Given the description of an element on the screen output the (x, y) to click on. 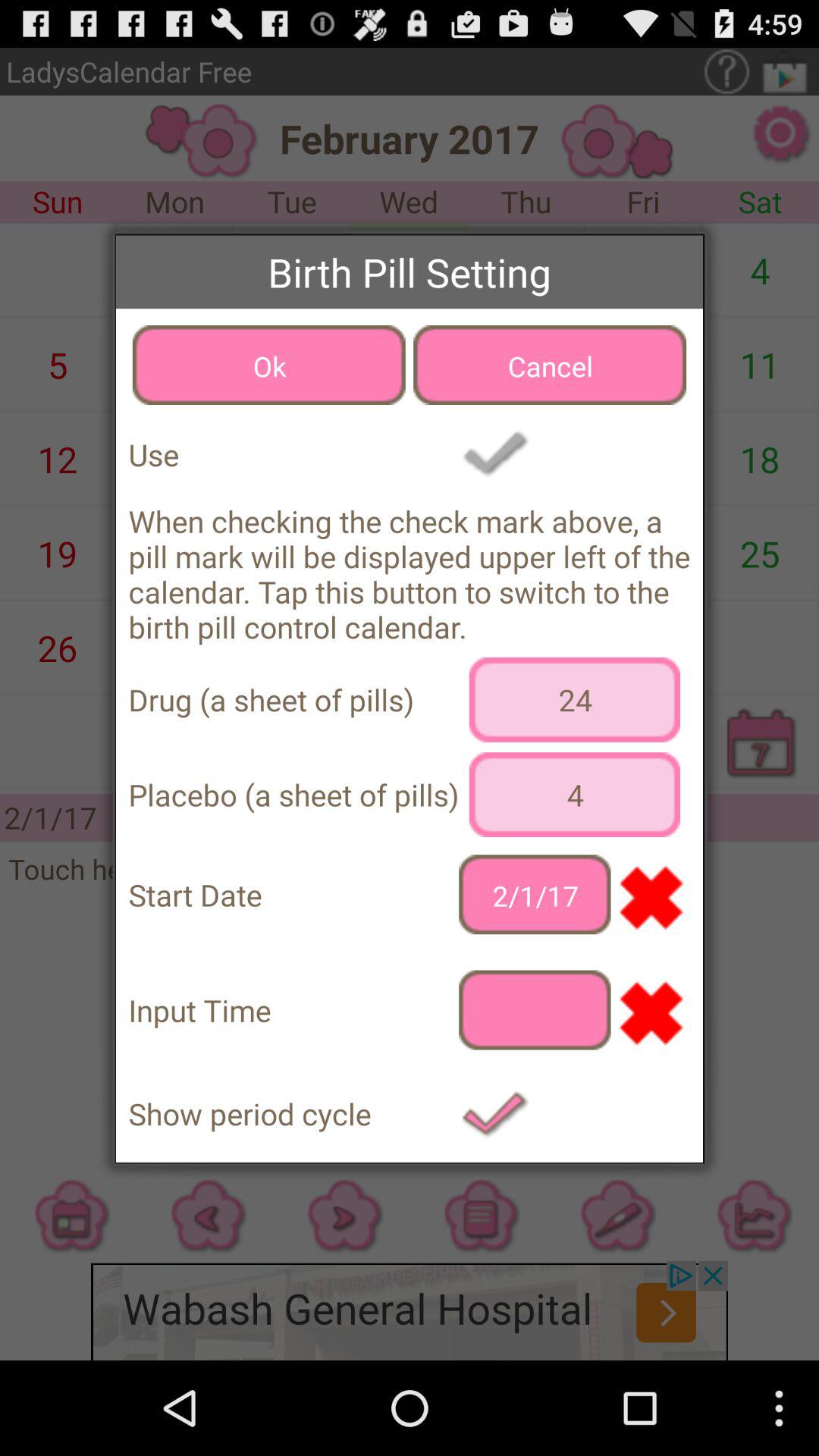
tap the icon above use app (268, 364)
